Given the description of an element on the screen output the (x, y) to click on. 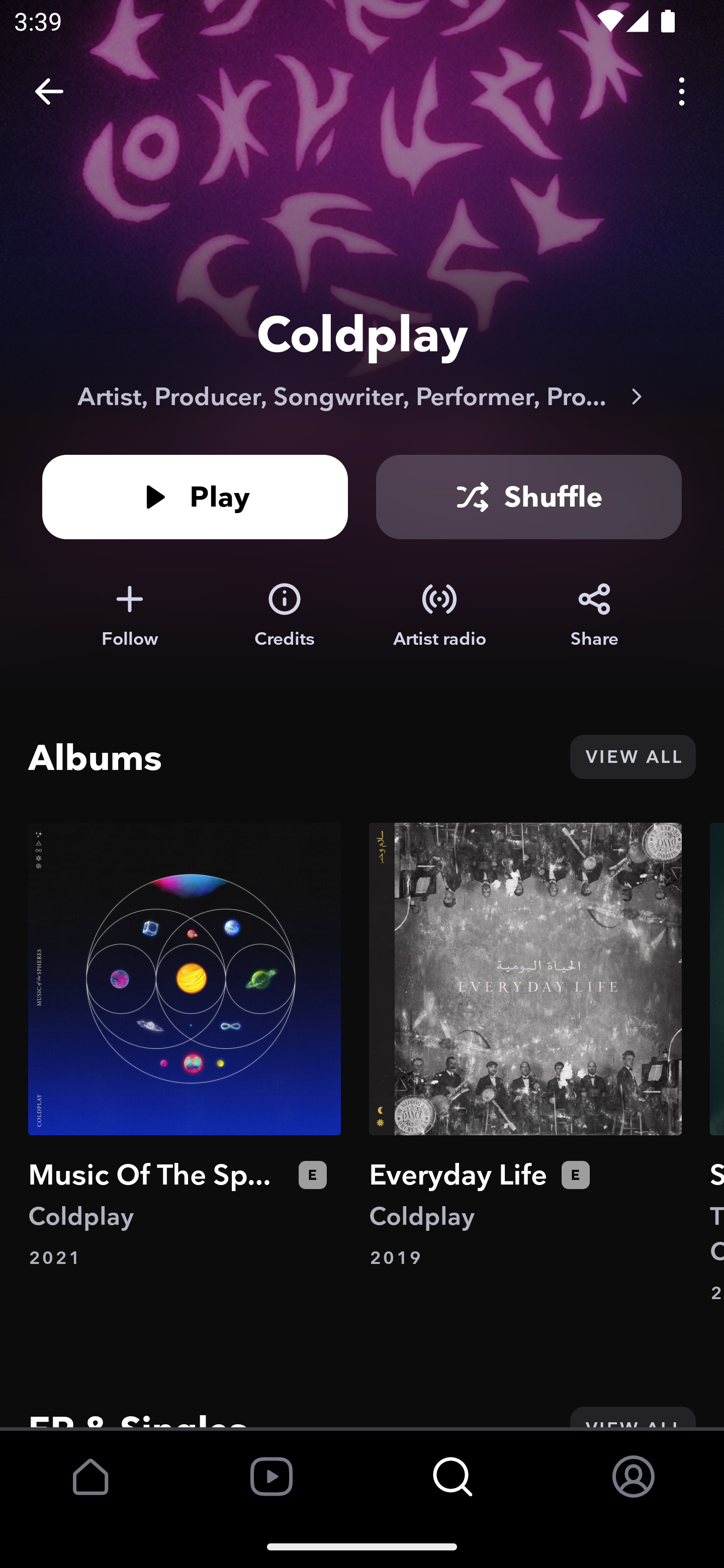
Options (681, 90)
Play (194, 496)
Shuffle (528, 496)
Follow (129, 614)
Credits (284, 614)
Artist radio (439, 614)
Share (593, 614)
VIEW ALL (632, 757)
Music Of The Spheres Coldplay 2021 (184, 1046)
Everyday Life Coldplay 2019 (525, 1046)
